Given the description of an element on the screen output the (x, y) to click on. 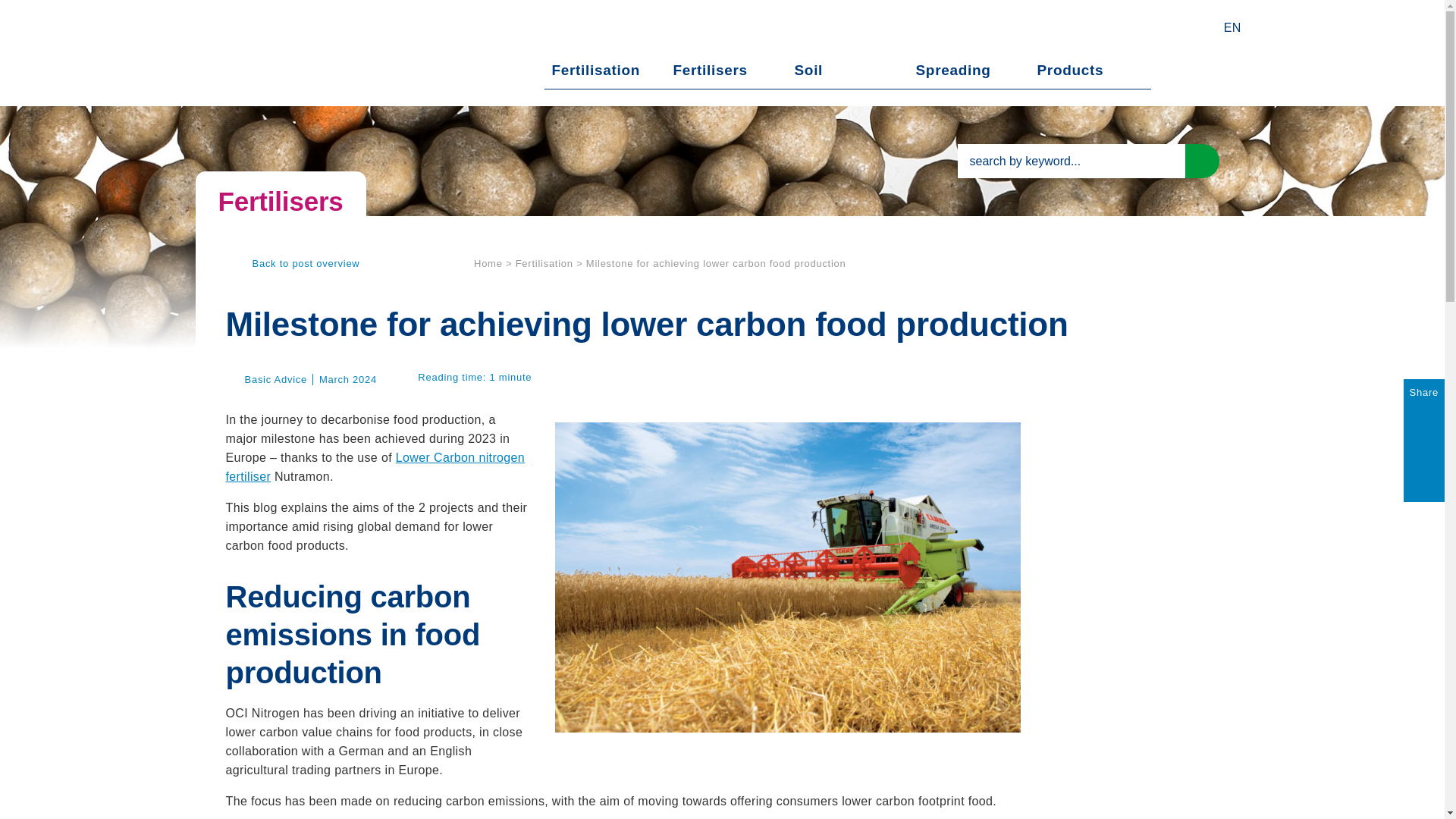
Fertilisation (595, 71)
EN (1232, 27)
NutriNorm (309, 53)
